Given the description of an element on the screen output the (x, y) to click on. 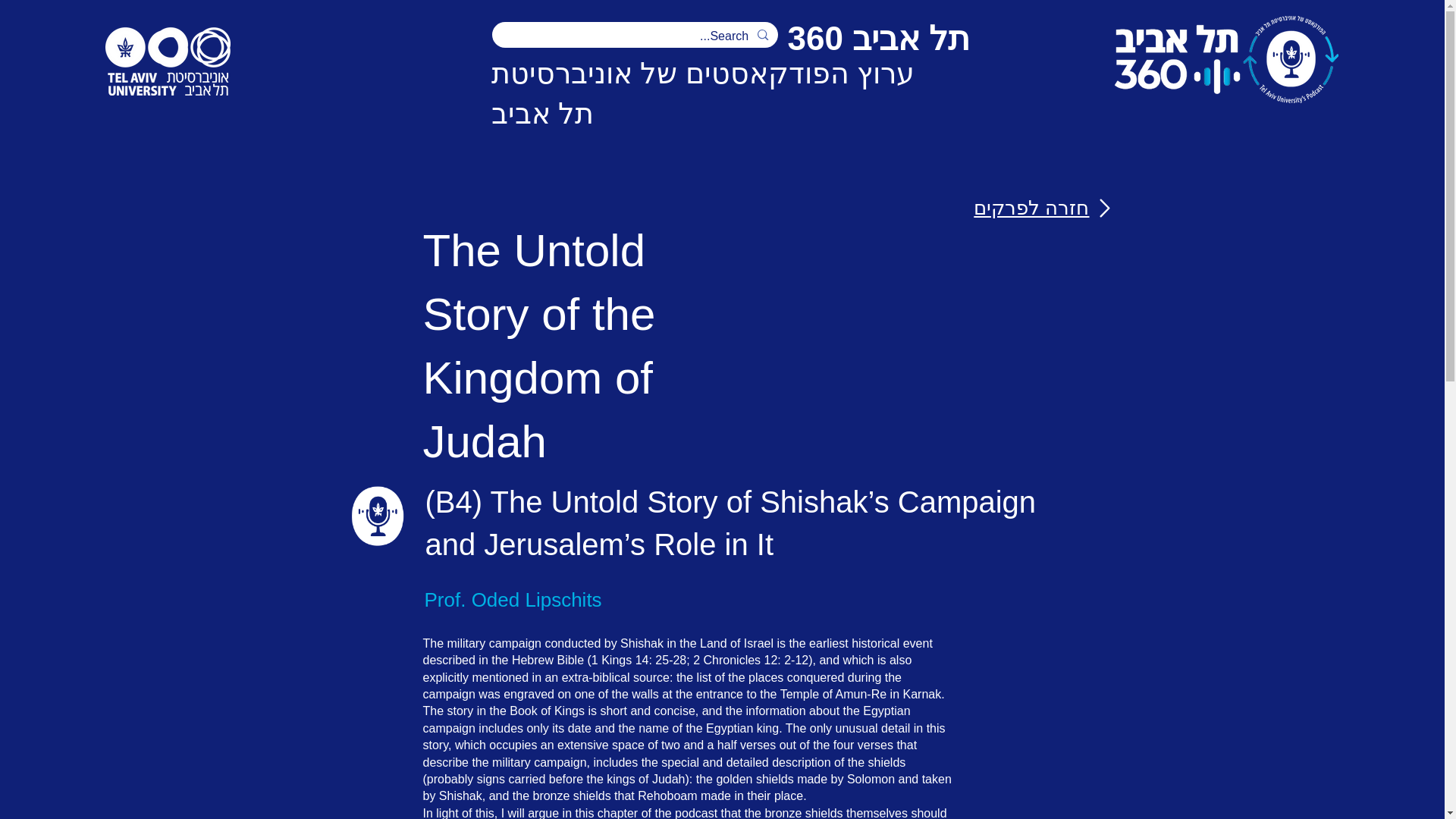
podcast (376, 516)
